Given the description of an element on the screen output the (x, y) to click on. 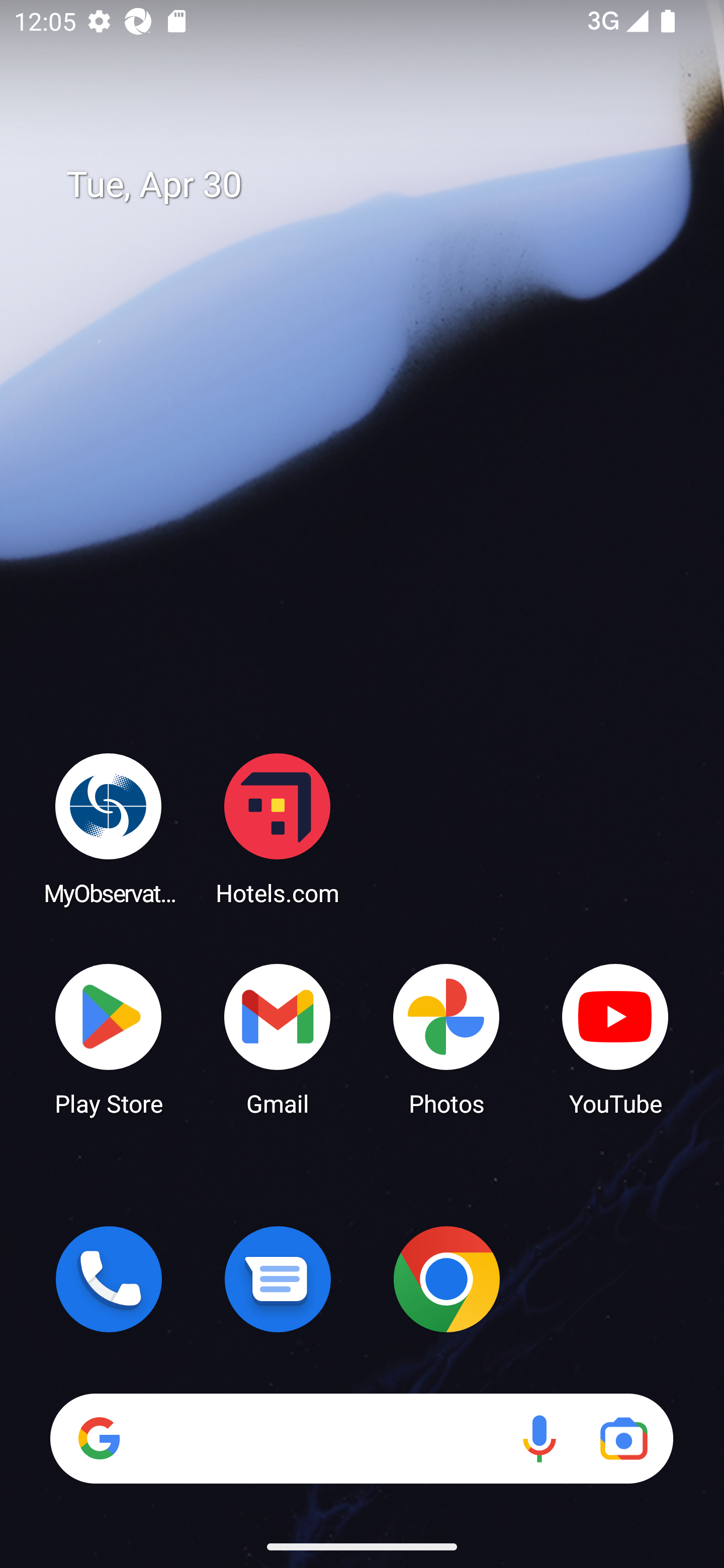
Tue, Apr 30 (375, 184)
MyObservatory (108, 828)
Hotels.com (277, 828)
Play Store (108, 1038)
Gmail (277, 1038)
Photos (445, 1038)
YouTube (615, 1038)
Phone (108, 1279)
Messages (277, 1279)
Chrome (446, 1279)
Voice search (539, 1438)
Google Lens (623, 1438)
